Given the description of an element on the screen output the (x, y) to click on. 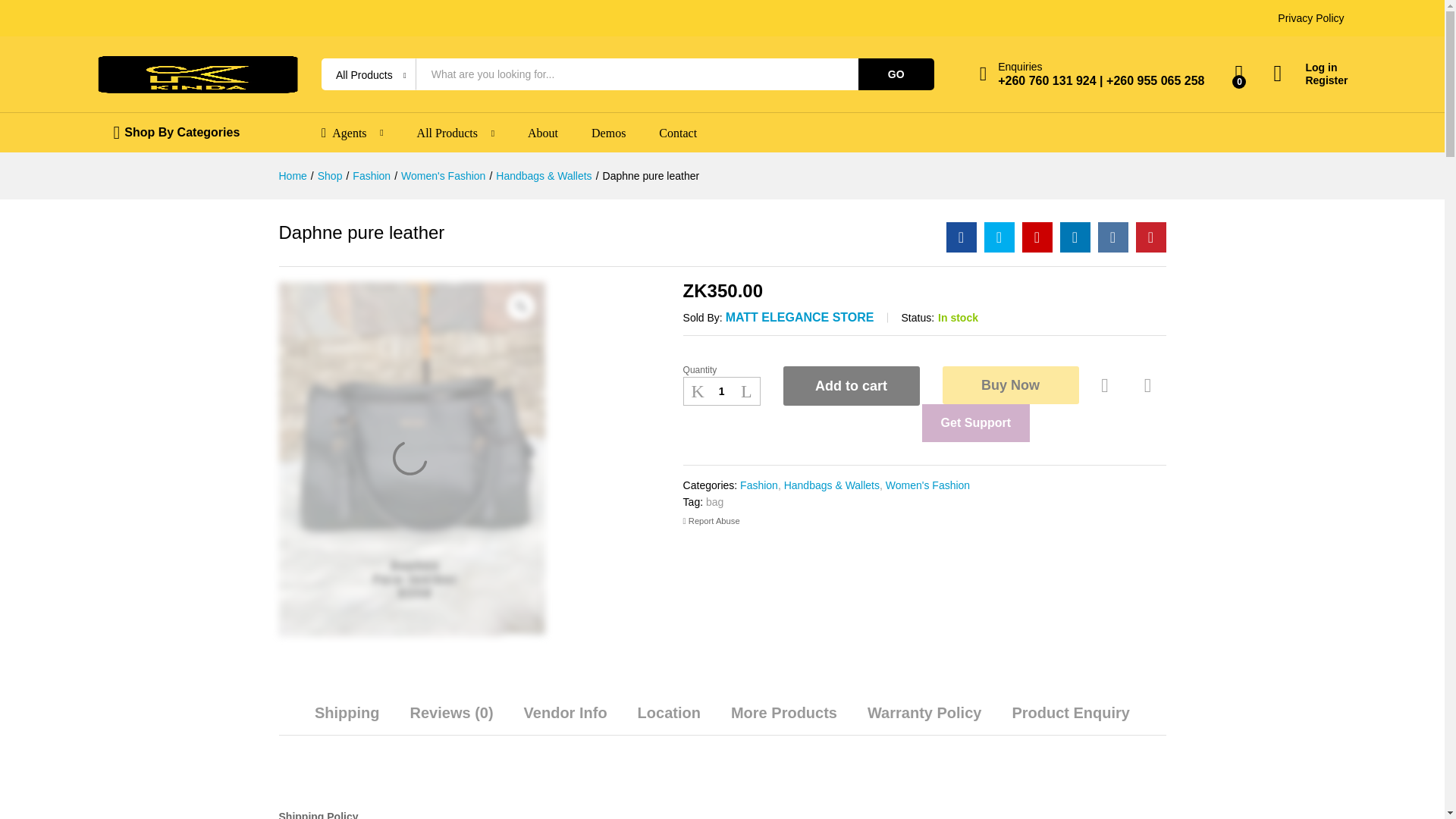
Log in (1310, 67)
Daphne pure leather (1037, 236)
Daphne pure leather (961, 236)
Compare (1147, 385)
Shop By Categories (181, 132)
0 (1238, 73)
Register (1310, 80)
1 (721, 390)
GO (896, 74)
Qty (721, 390)
Add to wishlist (1106, 385)
IMG-20220423-WA0017 (411, 459)
Privacy Policy (1310, 18)
